Given the description of an element on the screen output the (x, y) to click on. 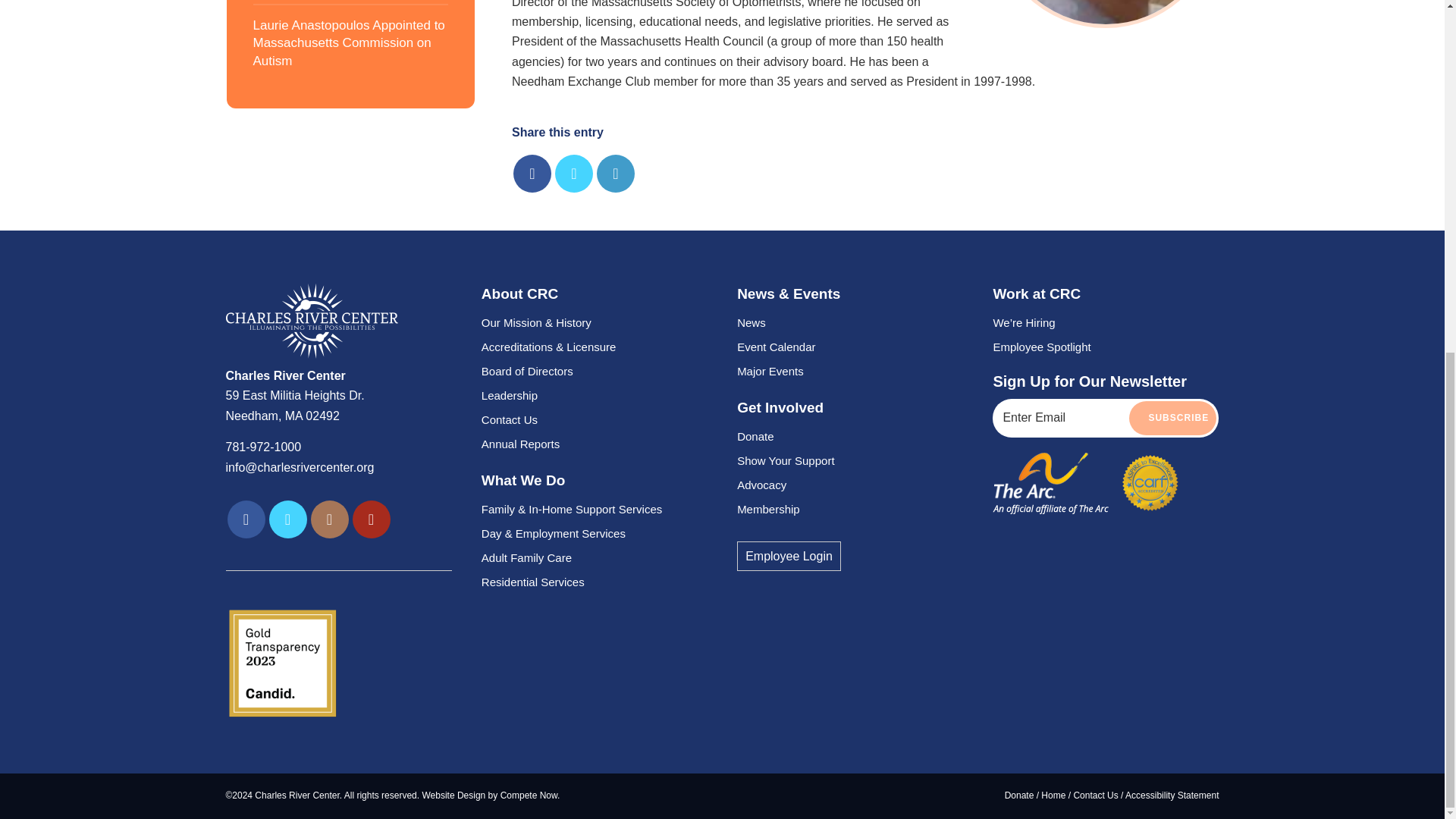
Subscribe (1172, 417)
